Given the description of an element on the screen output the (x, y) to click on. 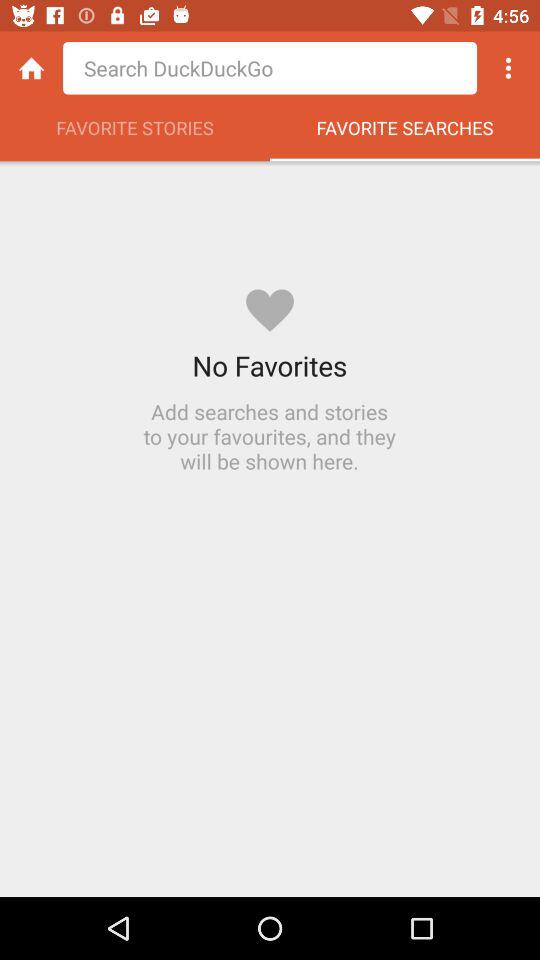
go to home page (31, 68)
